Given the description of an element on the screen output the (x, y) to click on. 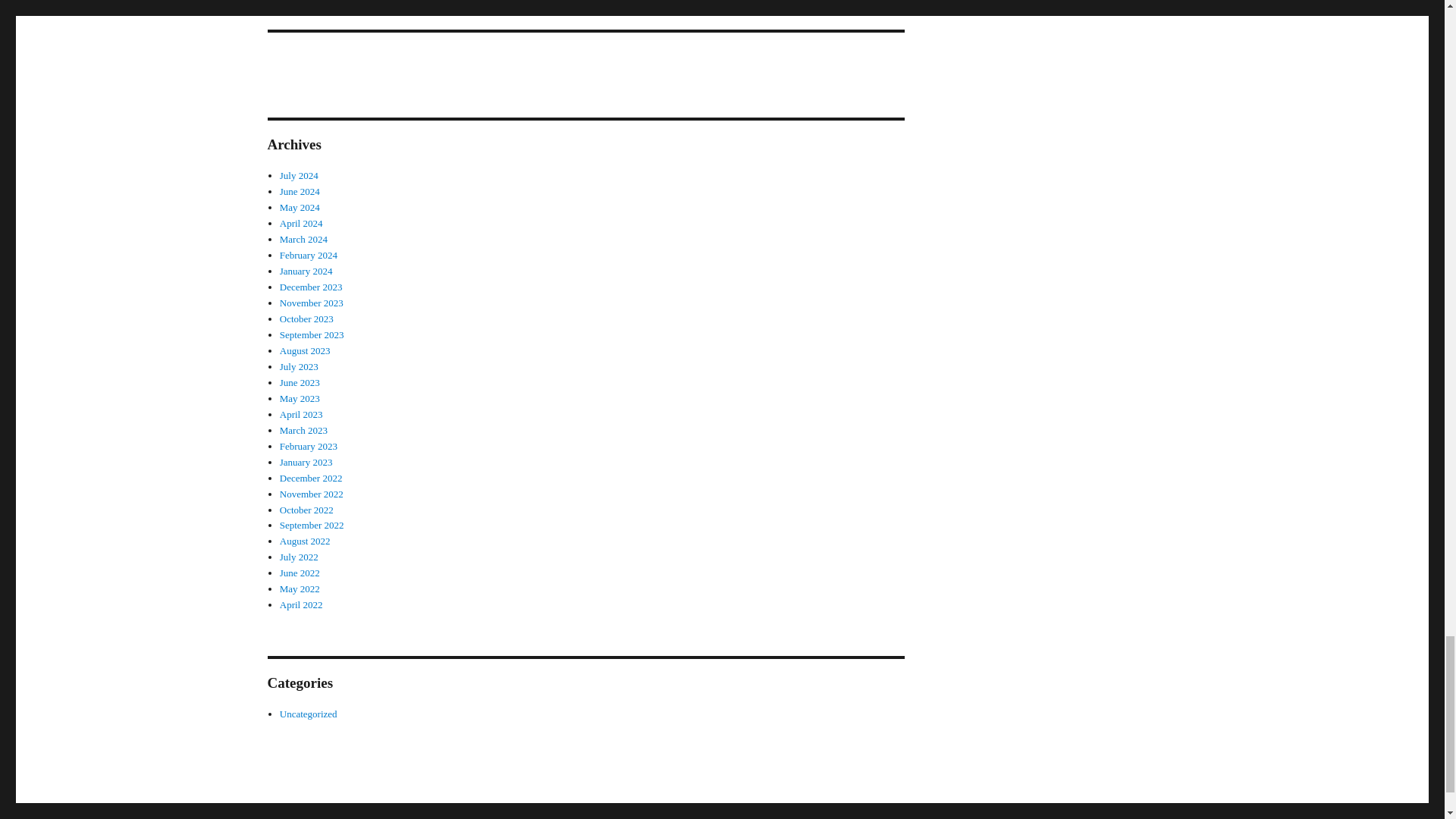
November 2022 (311, 493)
July 2024 (298, 174)
March 2024 (303, 238)
January 2024 (306, 270)
February 2023 (308, 446)
January 2023 (306, 461)
December 2022 (310, 478)
September 2023 (311, 334)
June 2024 (299, 191)
July 2023 (298, 366)
October 2023 (306, 318)
May 2023 (299, 398)
July 2022 (298, 556)
April 2023 (301, 414)
March 2023 (303, 430)
